Given the description of an element on the screen output the (x, y) to click on. 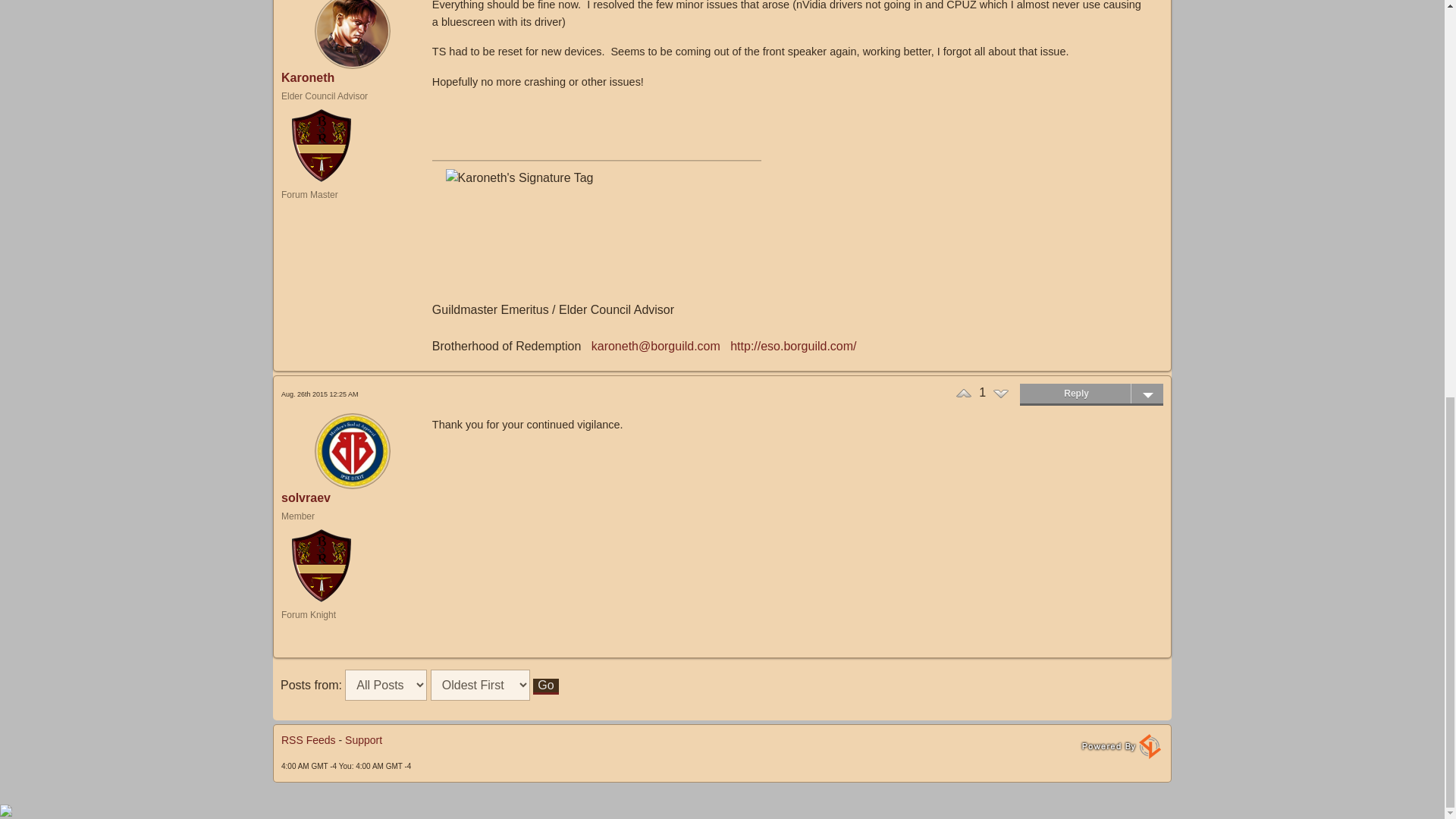
Down Vote (1000, 393)
Go (544, 685)
Powered by Gamer Launch - Game Community Hosting (1120, 744)
Up Vote (963, 393)
